Given the description of an element on the screen output the (x, y) to click on. 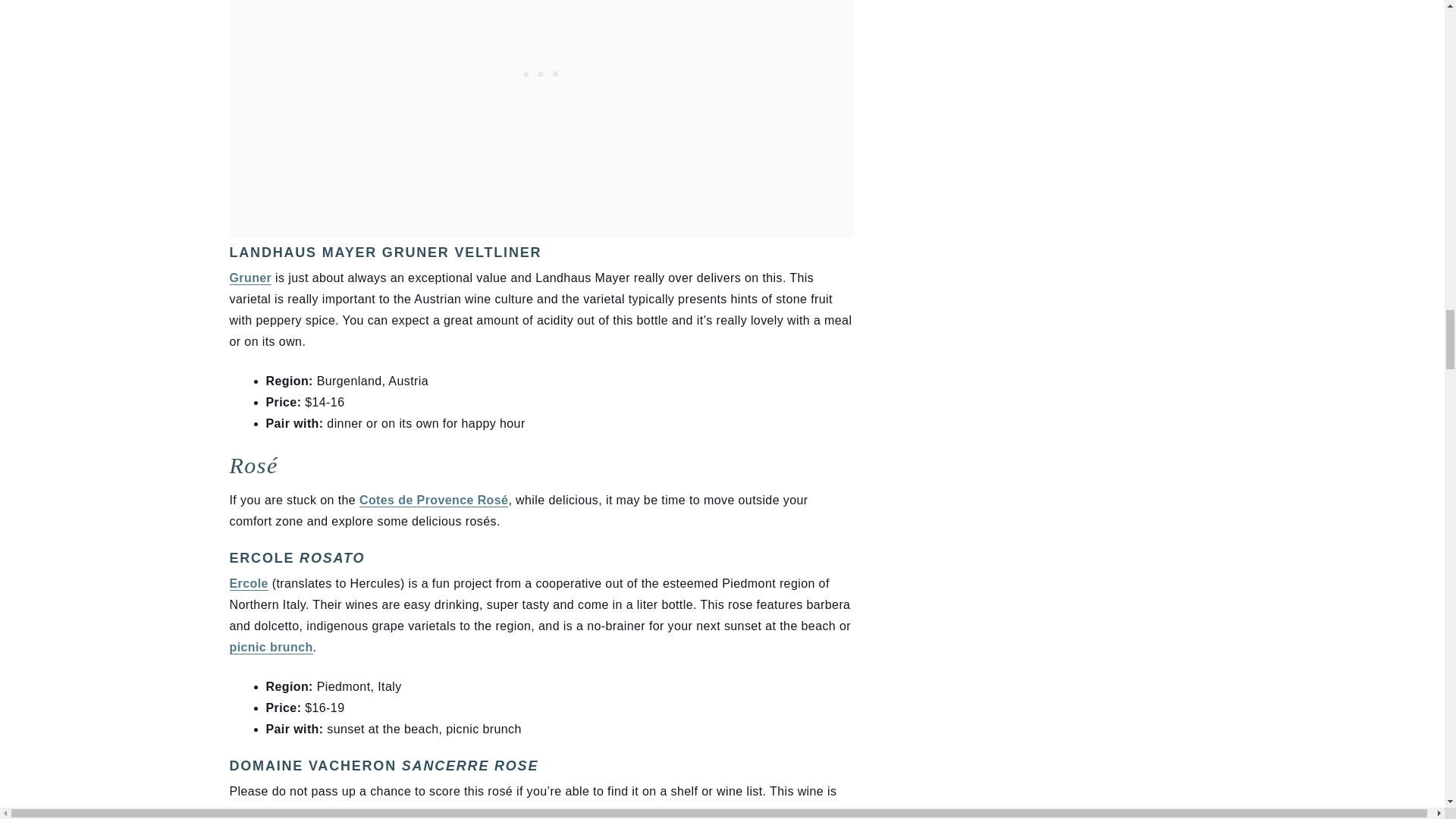
Gruner (249, 278)
